Given the description of an element on the screen output the (x, y) to click on. 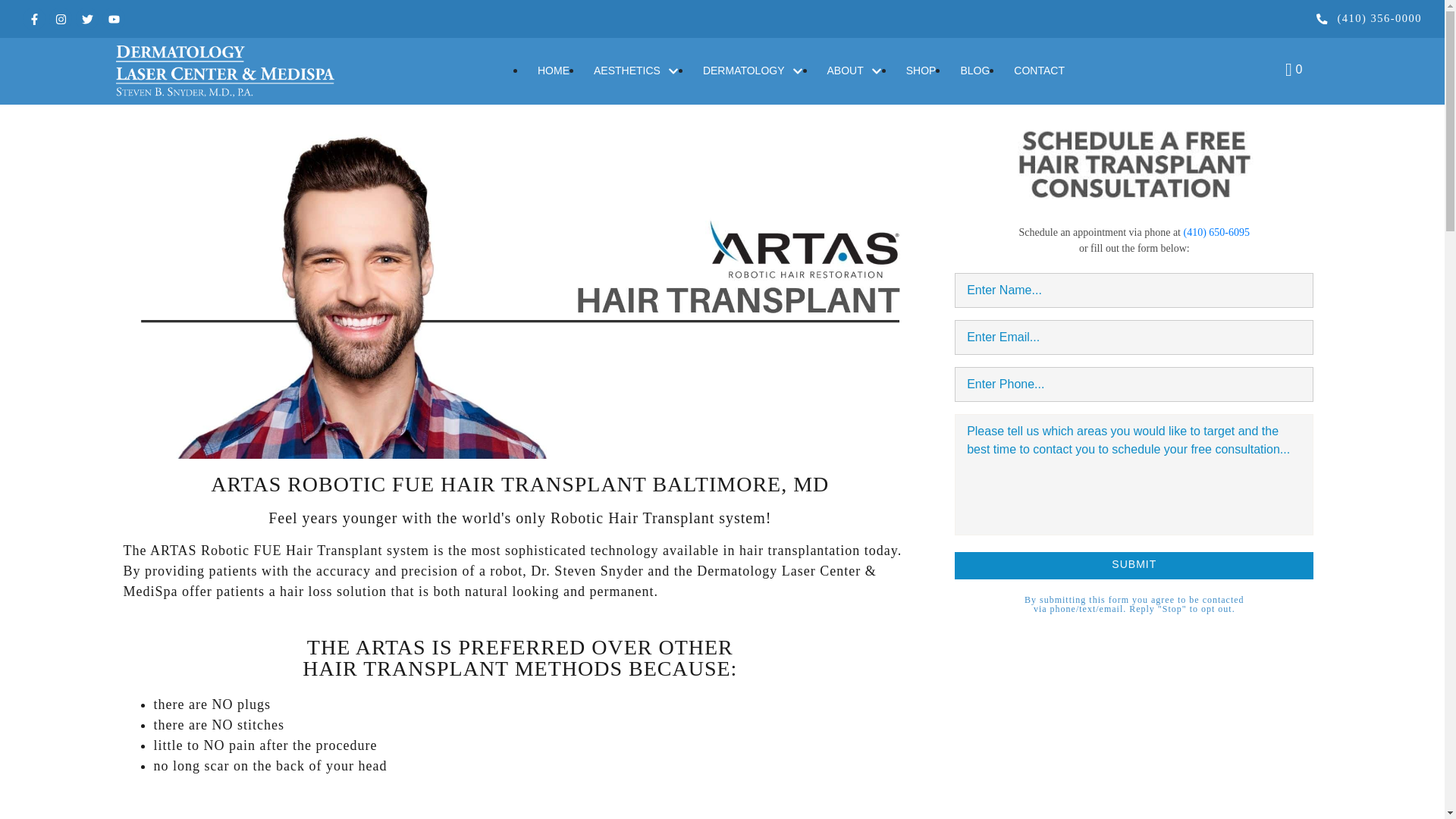
laser-doc-logo-1 (224, 71)
Submit (1134, 565)
